Given the description of an element on the screen output the (x, y) to click on. 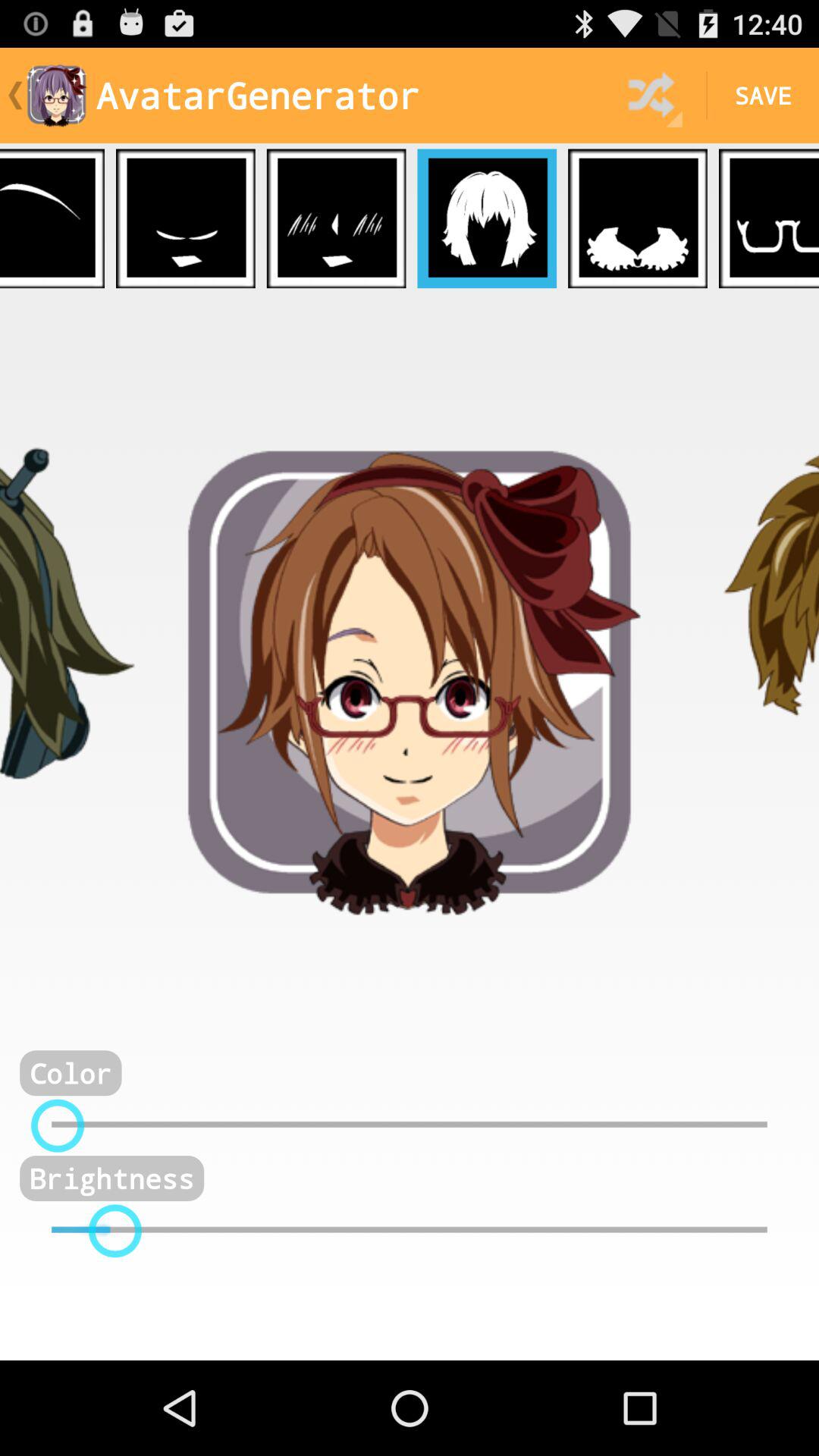
choose eyebrows (52, 218)
